Given the description of an element on the screen output the (x, y) to click on. 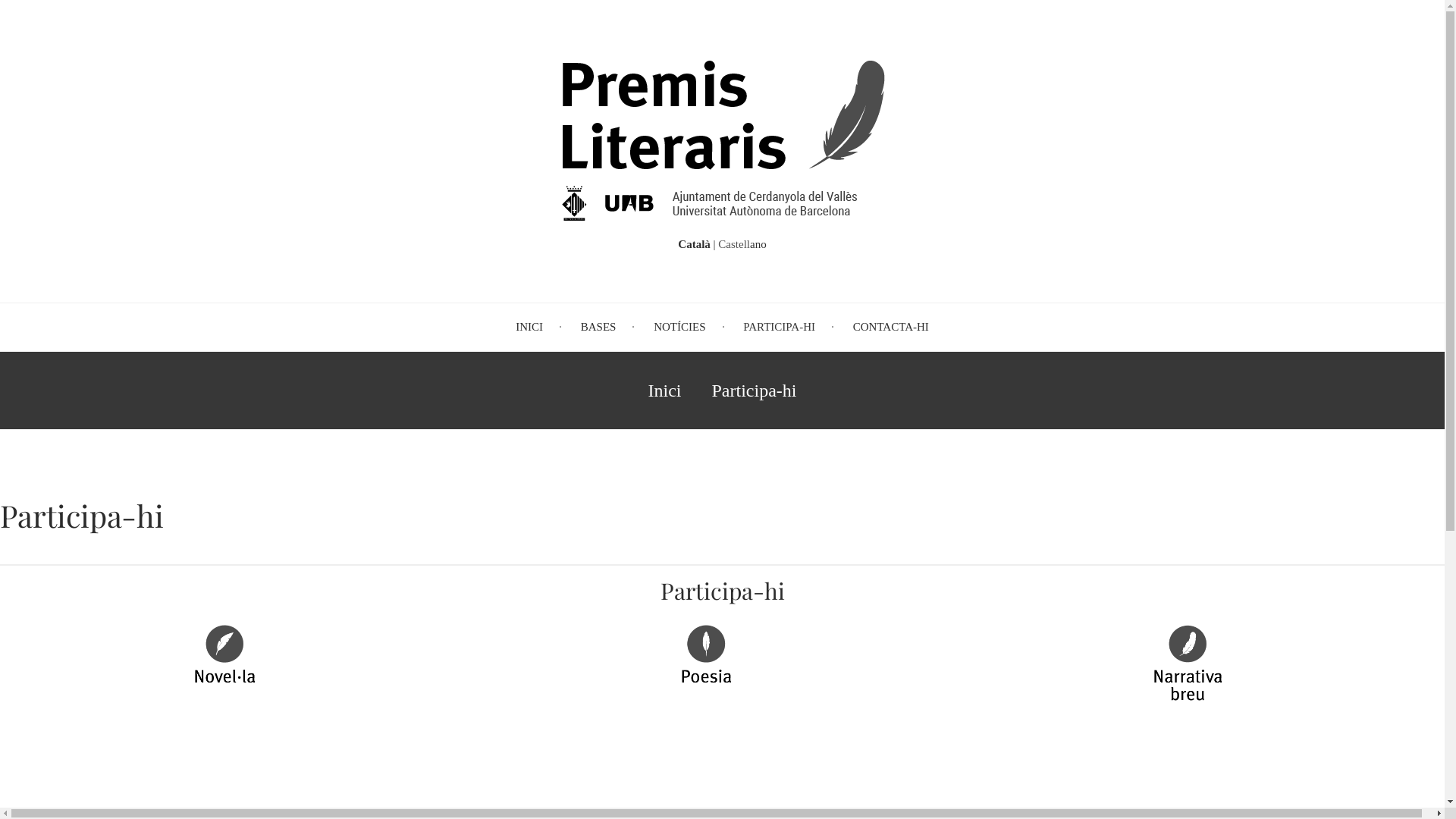
INICI Element type: text (529, 326)
Inici Element type: hover (722, 218)
CONTACTA-HI Element type: text (890, 326)
PARTICIPA-HI Element type: text (778, 326)
Inici Element type: text (664, 390)
Castell Element type: text (733, 244)
BASES Element type: text (598, 326)
